Given the description of an element on the screen output the (x, y) to click on. 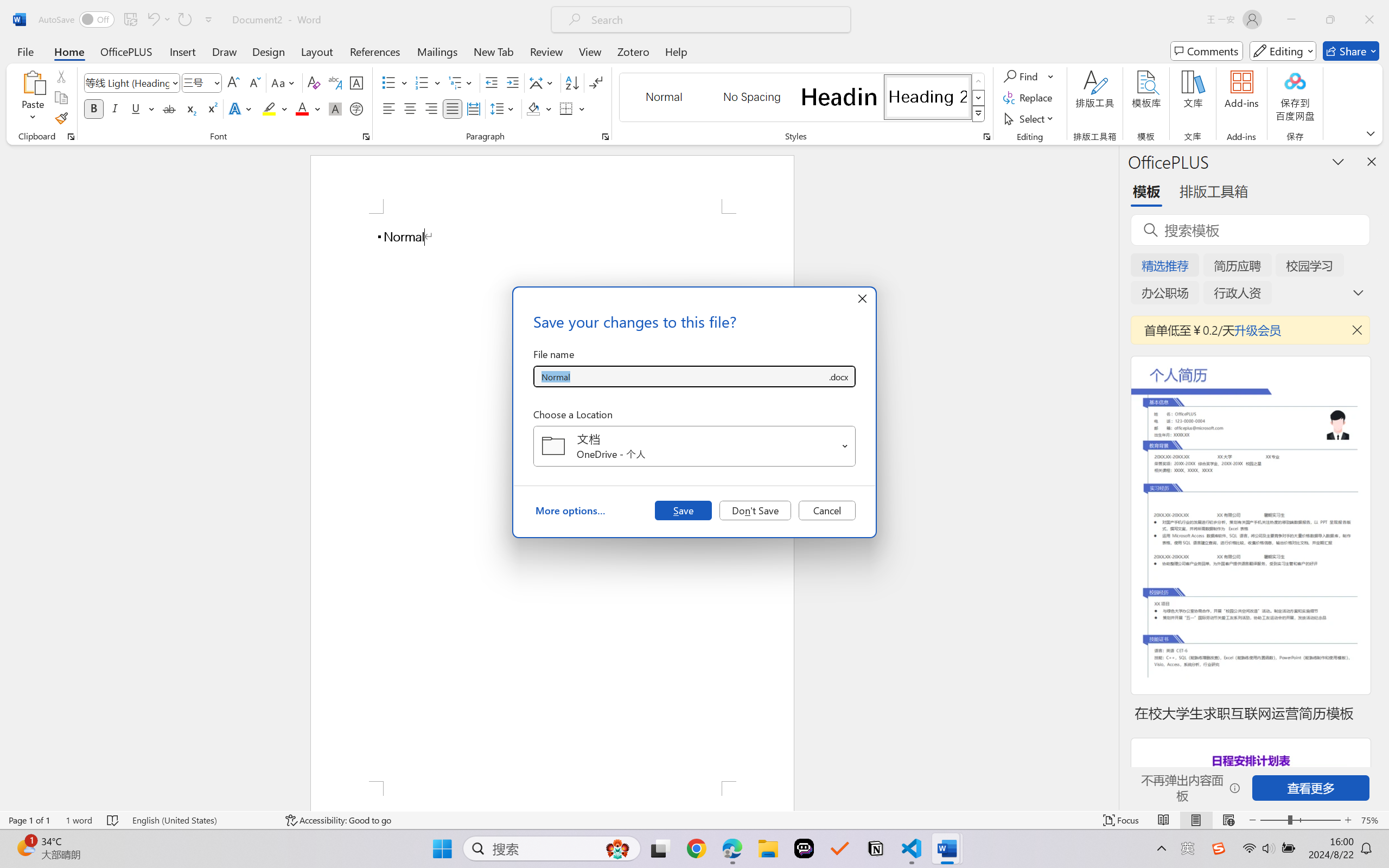
Word Count 1 word (78, 819)
Phonetic Guide... (334, 82)
OfficePLUS (126, 51)
Superscript (210, 108)
Font (132, 82)
Home (69, 51)
Change Case (284, 82)
Paragraph... (605, 136)
Shading (539, 108)
Task Pane Options (1338, 161)
Notion (875, 848)
